Given the description of an element on the screen output the (x, y) to click on. 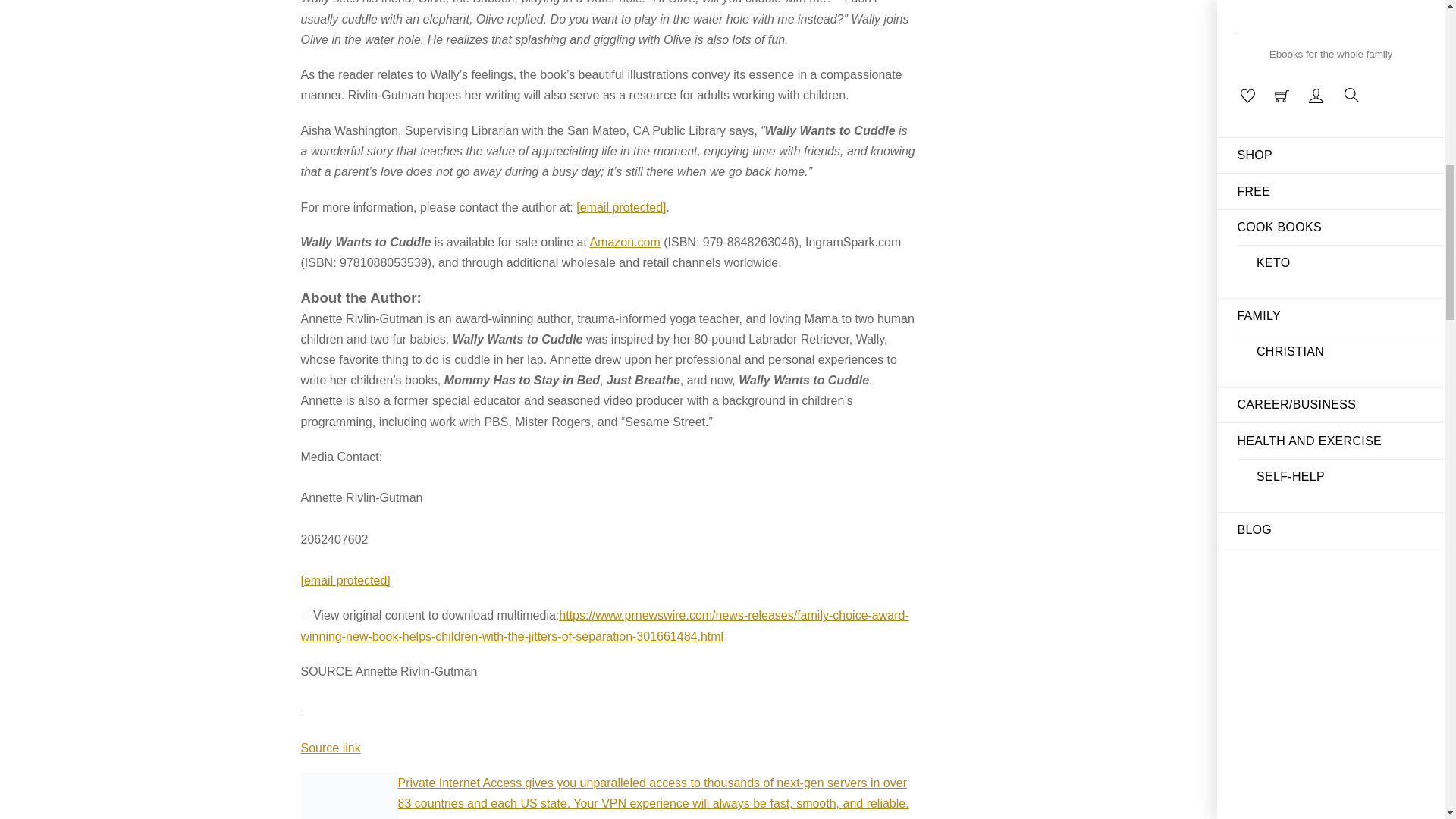
Amazon.com (624, 241)
Source link (329, 748)
Cision (303, 614)
